Given the description of an element on the screen output the (x, y) to click on. 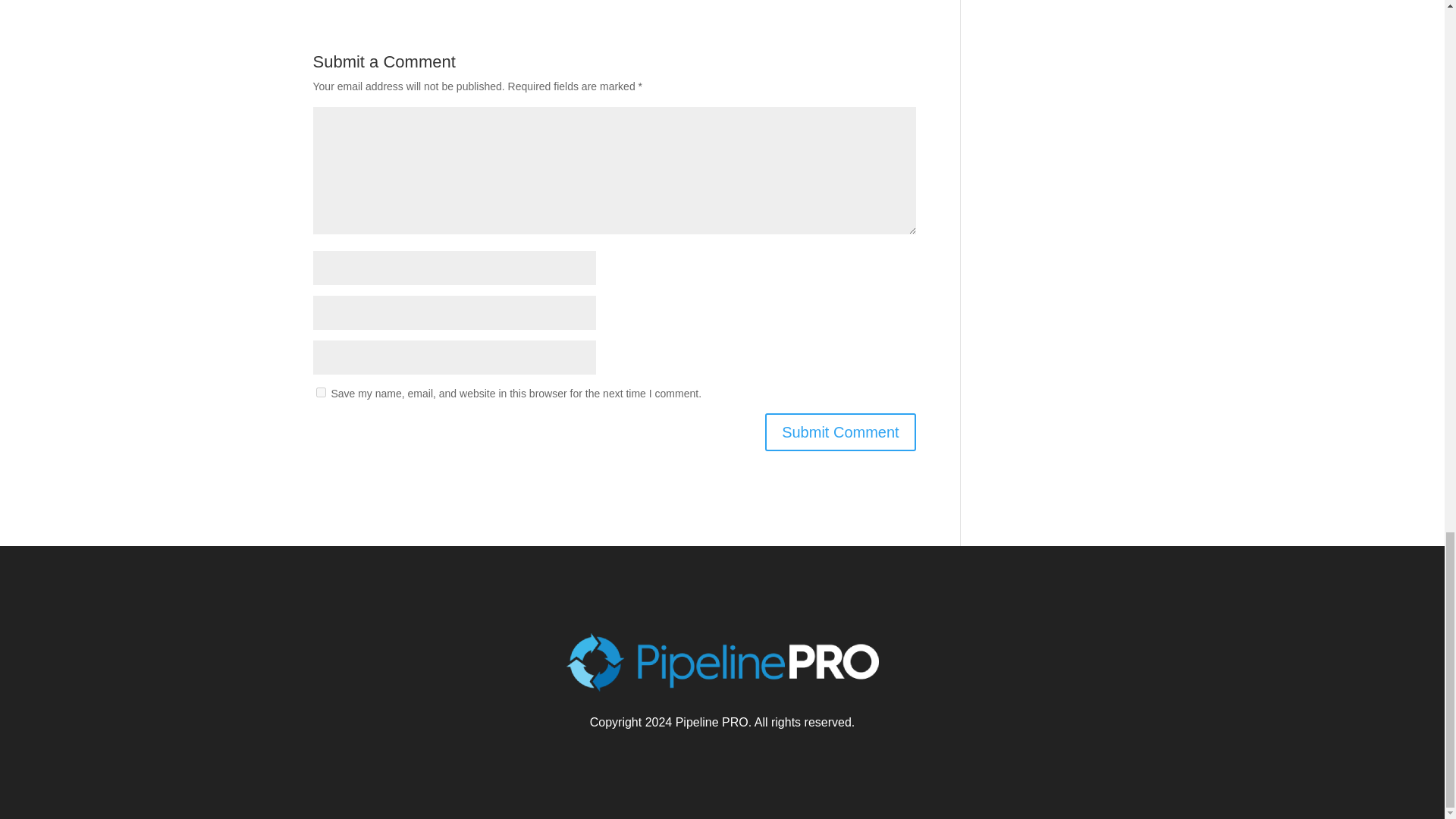
yes (319, 392)
Submit Comment (840, 432)
